Given the description of an element on the screen output the (x, y) to click on. 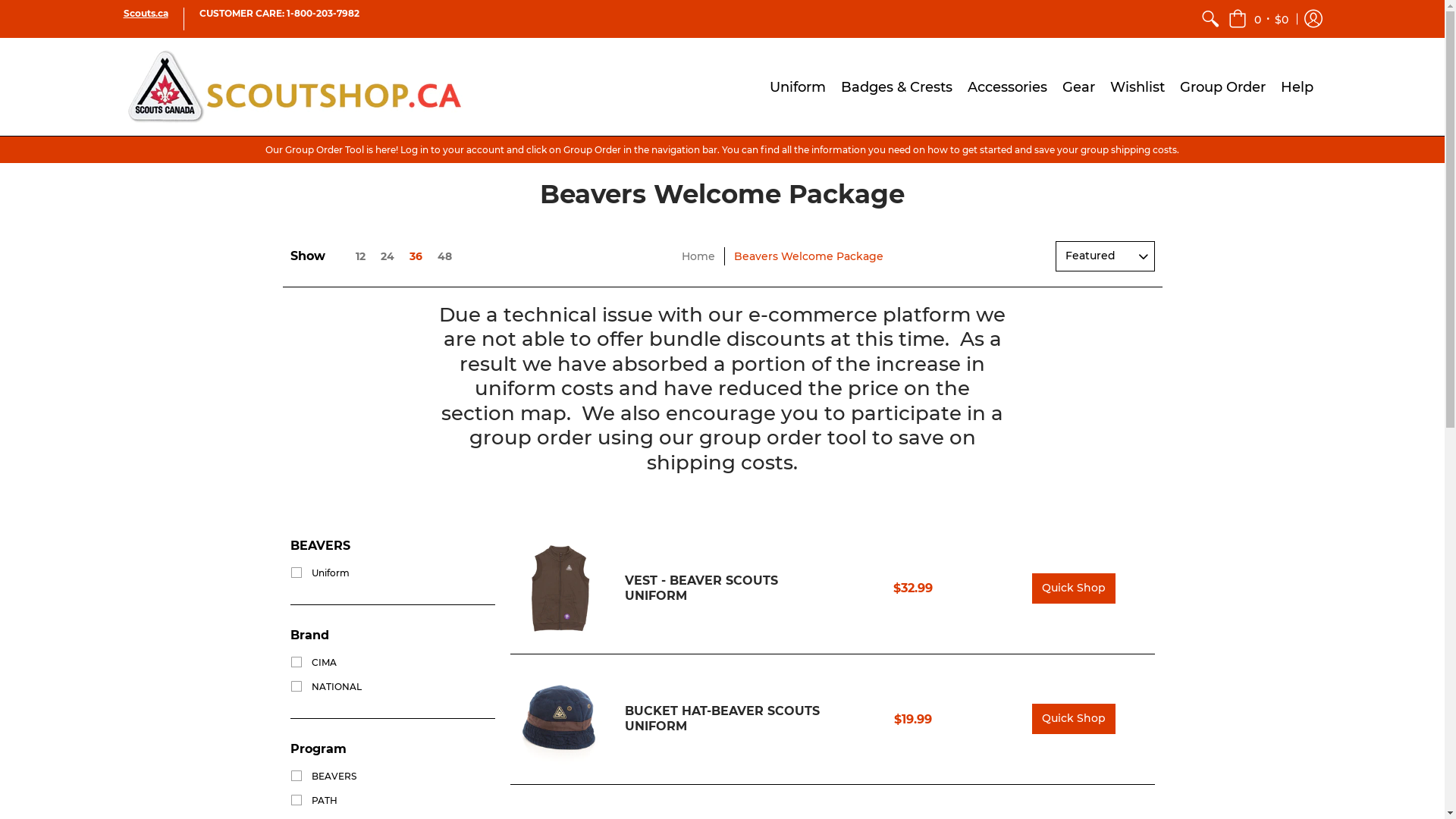
BEAVERS Element type: text (322, 776)
Group Order Element type: text (1222, 86)
Quick Shop Element type: text (1073, 588)
PATH Element type: text (312, 800)
Wishlist Element type: text (1137, 86)
View the BUCKET HAT-BEAVER SCOUTS UNIFORM Element type: hover (559, 719)
View the VEST - BEAVER SCOUTS UNIFORM Element type: hover (559, 588)
Gear Element type: text (1078, 86)
Accessories Element type: text (1007, 86)
BUCKET HAT-BEAVER SCOUTS UNIFORM Element type: text (721, 718)
NATIONAL Element type: text (324, 686)
Home Element type: text (698, 255)
Uniform Element type: text (797, 86)
12 Element type: text (348, 255)
CIMA Element type: text (312, 662)
Help Element type: text (1297, 86)
36 Element type: text (415, 255)
VEST - BEAVER SCOUTS UNIFORM Element type: text (701, 587)
Scouts Canada Element type: hover (293, 86)
Badges & Crests Element type: text (896, 86)
24 Element type: text (387, 255)
Search Element type: hover (1209, 18)
Quick Shop Element type: text (1073, 718)
Log in Element type: hover (1312, 18)
Scouts.ca Element type: text (144, 12)
48 Element type: text (443, 255)
Uniform Element type: text (318, 573)
